Given the description of an element on the screen output the (x, y) to click on. 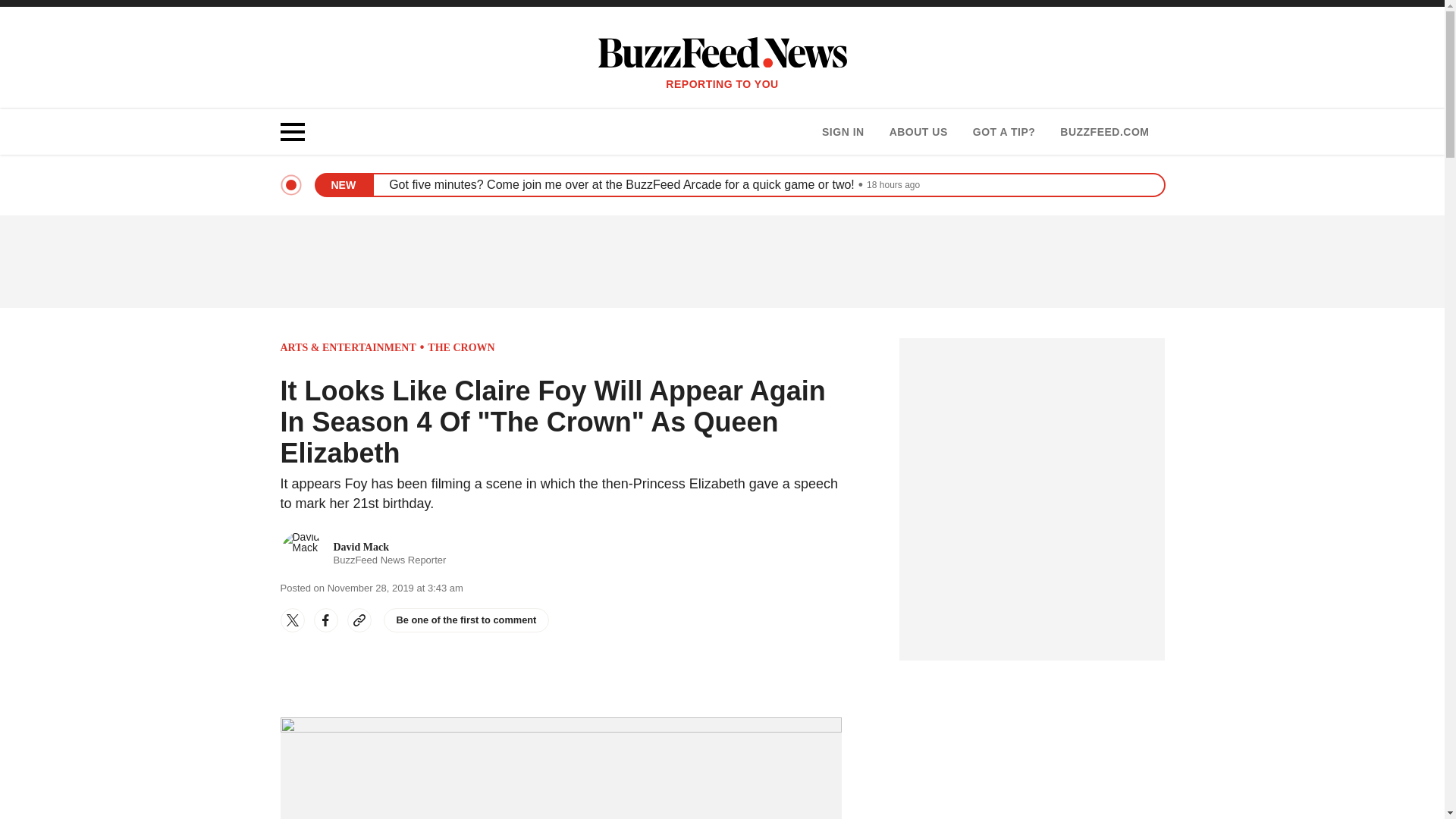
THE CROWN (363, 553)
GOT A TIP? (461, 347)
SIGN IN (1003, 131)
ABOUT US (842, 131)
Be one of the first to comment (917, 131)
BUZZFEED.COM (467, 620)
